Given the description of an element on the screen output the (x, y) to click on. 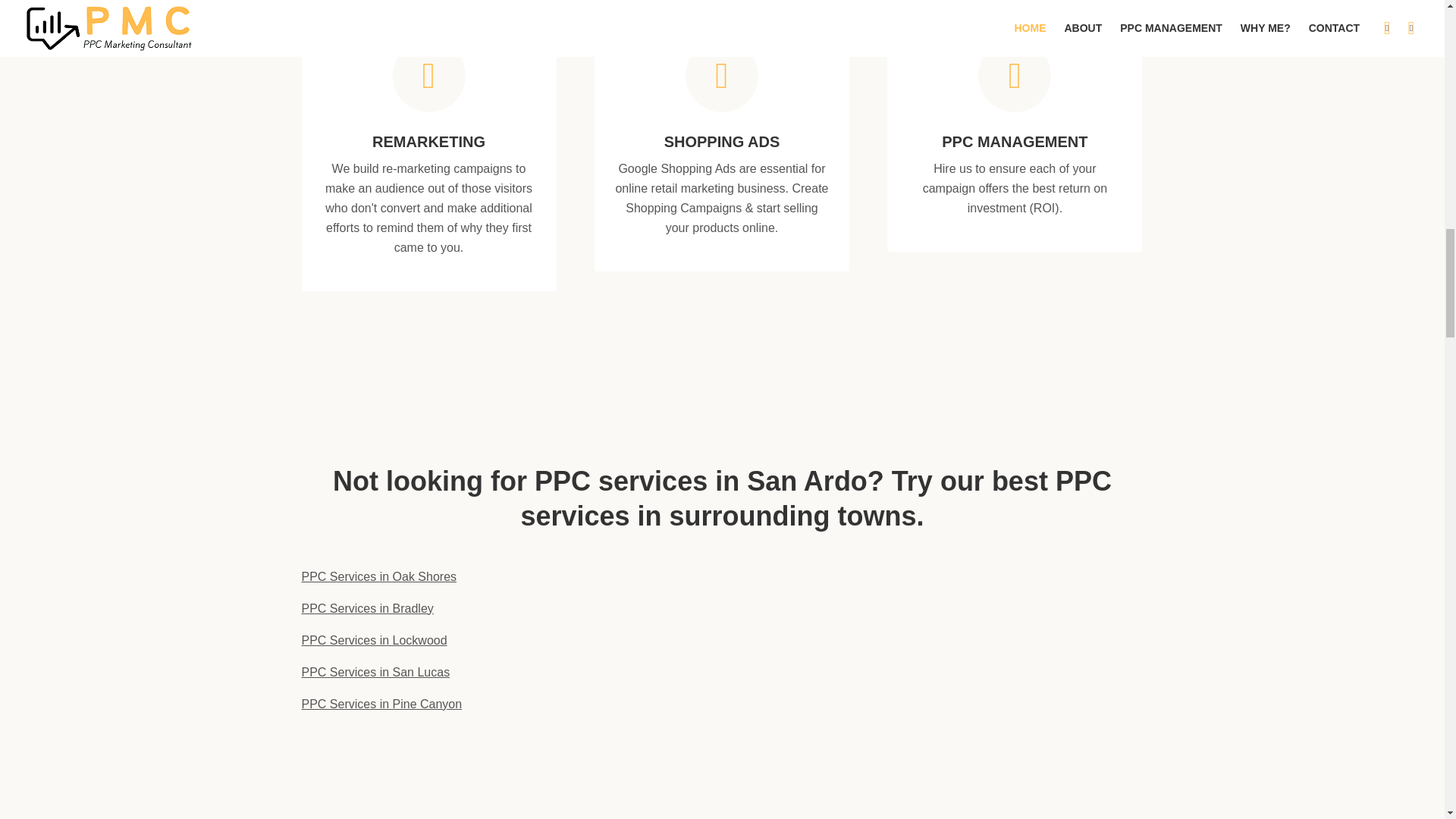
PPC Services in Lockwood (373, 640)
PPC Services in Bradley (367, 608)
PPC Services in Oak Shores (379, 576)
PPC Services in Pine Canyon (382, 703)
PPC Services in San Lucas (375, 671)
